Given the description of an element on the screen output the (x, y) to click on. 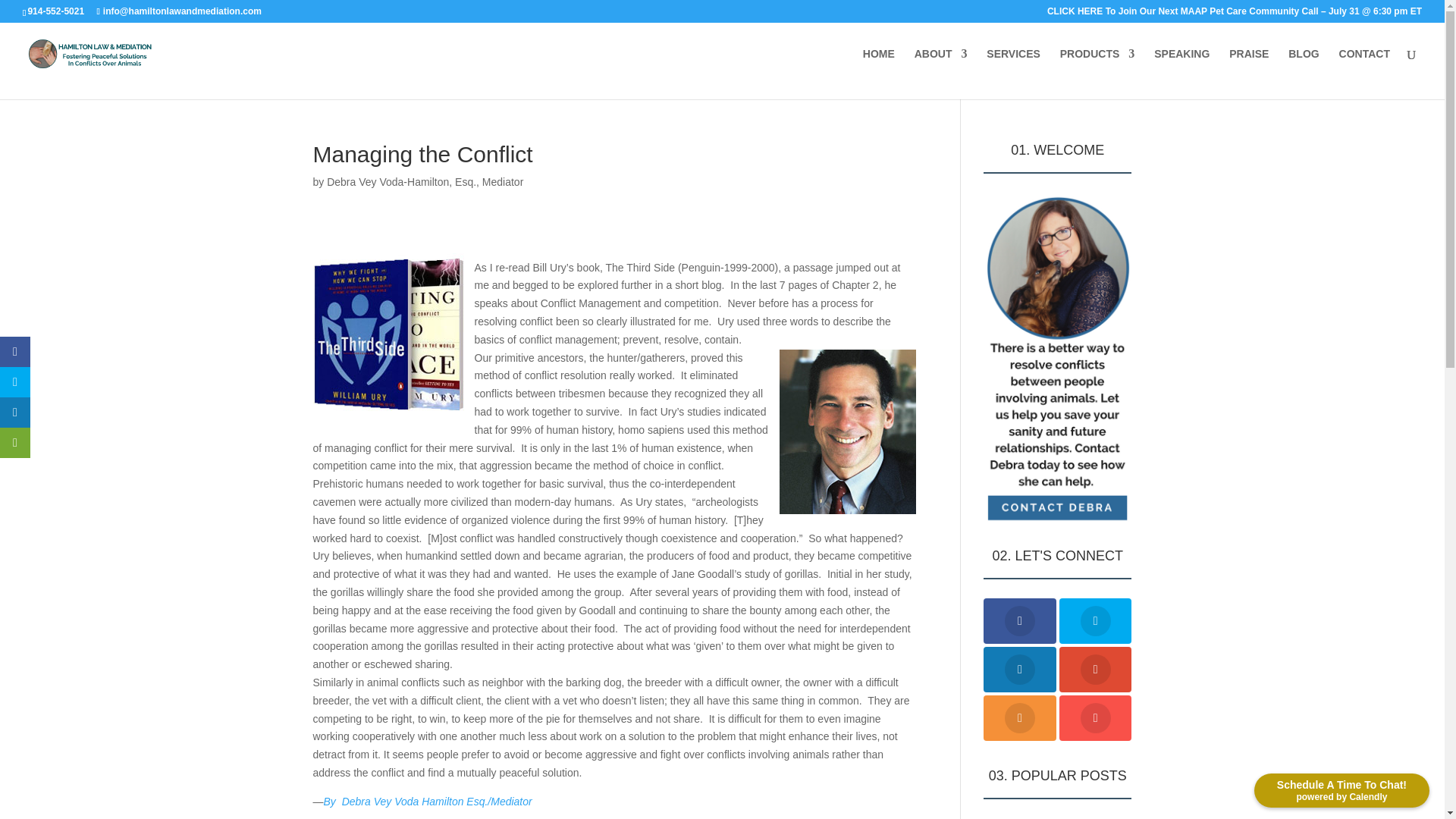
CONTACT (1364, 66)
ABOUT (941, 66)
HOME (879, 66)
Posts by Debra Vey Voda-Hamilton, Esq., Mediator (424, 182)
PRODUCTS (1097, 66)
SERVICES (1014, 66)
PRAISE (1248, 66)
914-552-5021 (58, 10)
SPEAKING (1181, 66)
